Given the description of an element on the screen output the (x, y) to click on. 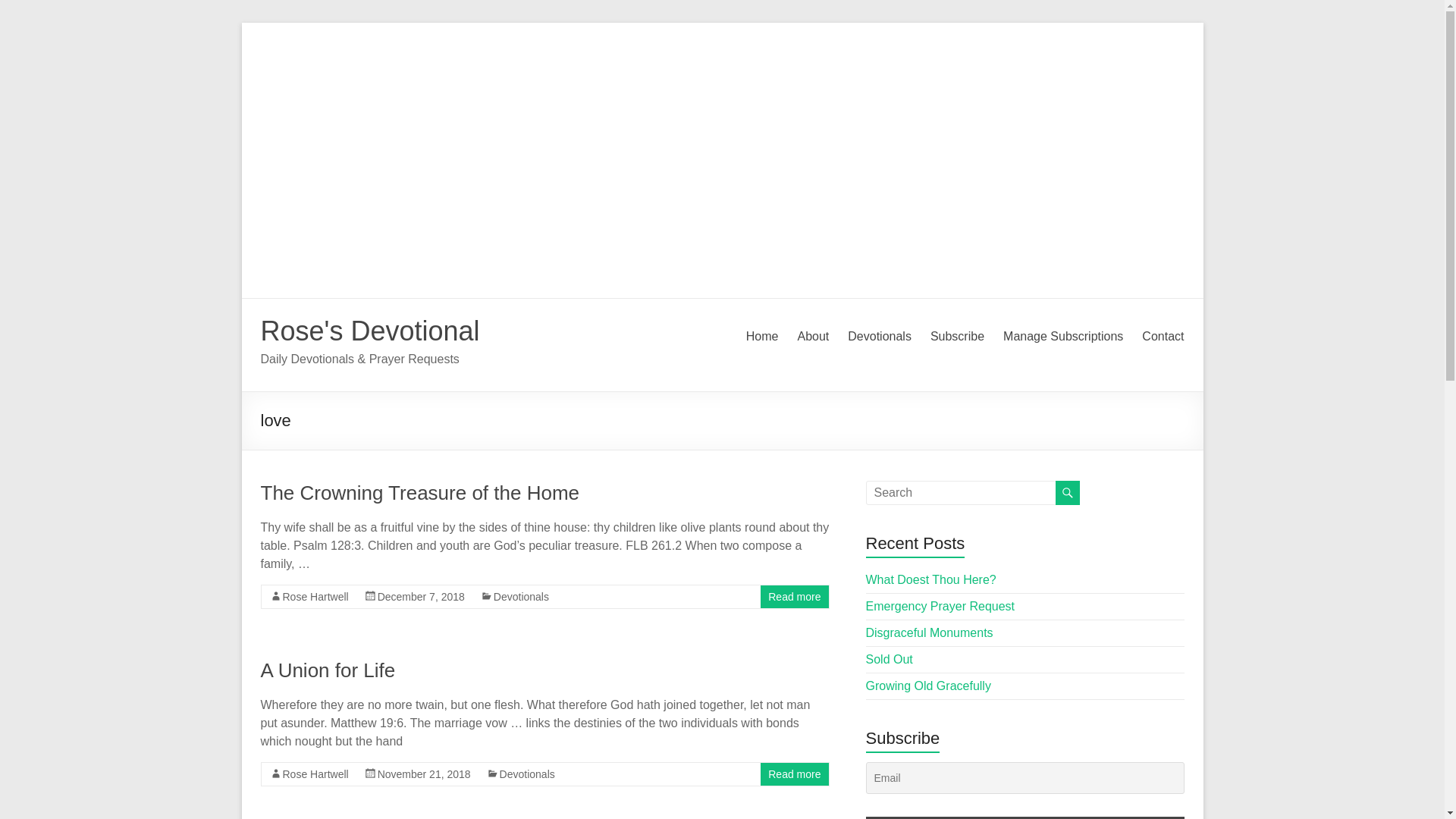
About (812, 336)
Home (761, 336)
Manage Subscriptions (1062, 336)
Contact (1162, 336)
Devotionals (520, 596)
Rose Hartwell (314, 774)
Rose's Devotional (370, 330)
Rose's Devotional (370, 330)
November 21, 2018 (423, 774)
The Crowning Treasure of the Home (419, 492)
9:11 am (420, 596)
Read more (794, 774)
A Union for Life (328, 670)
